Given the description of an element on the screen output the (x, y) to click on. 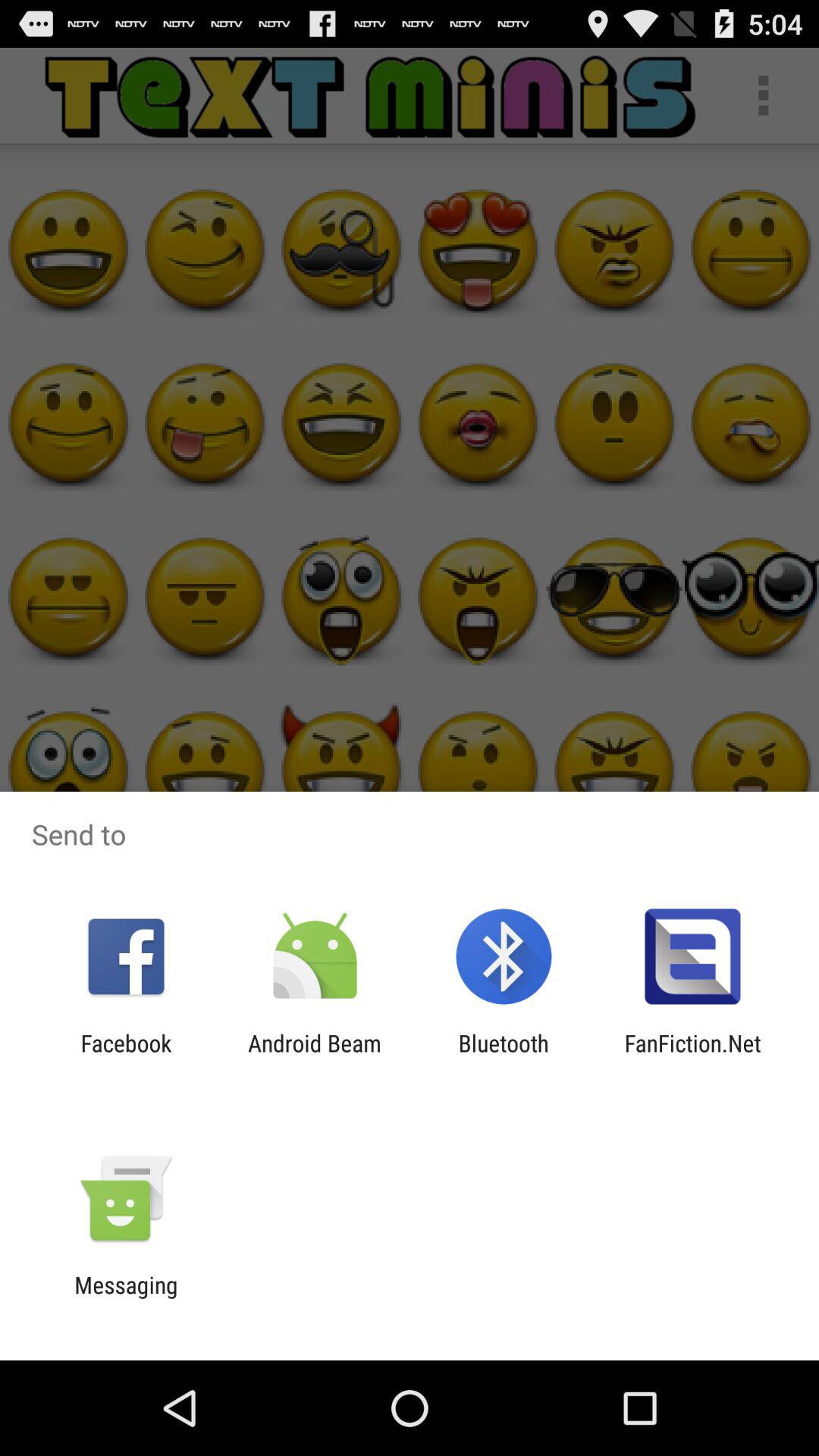
press the app next to android beam icon (125, 1056)
